Given the description of an element on the screen output the (x, y) to click on. 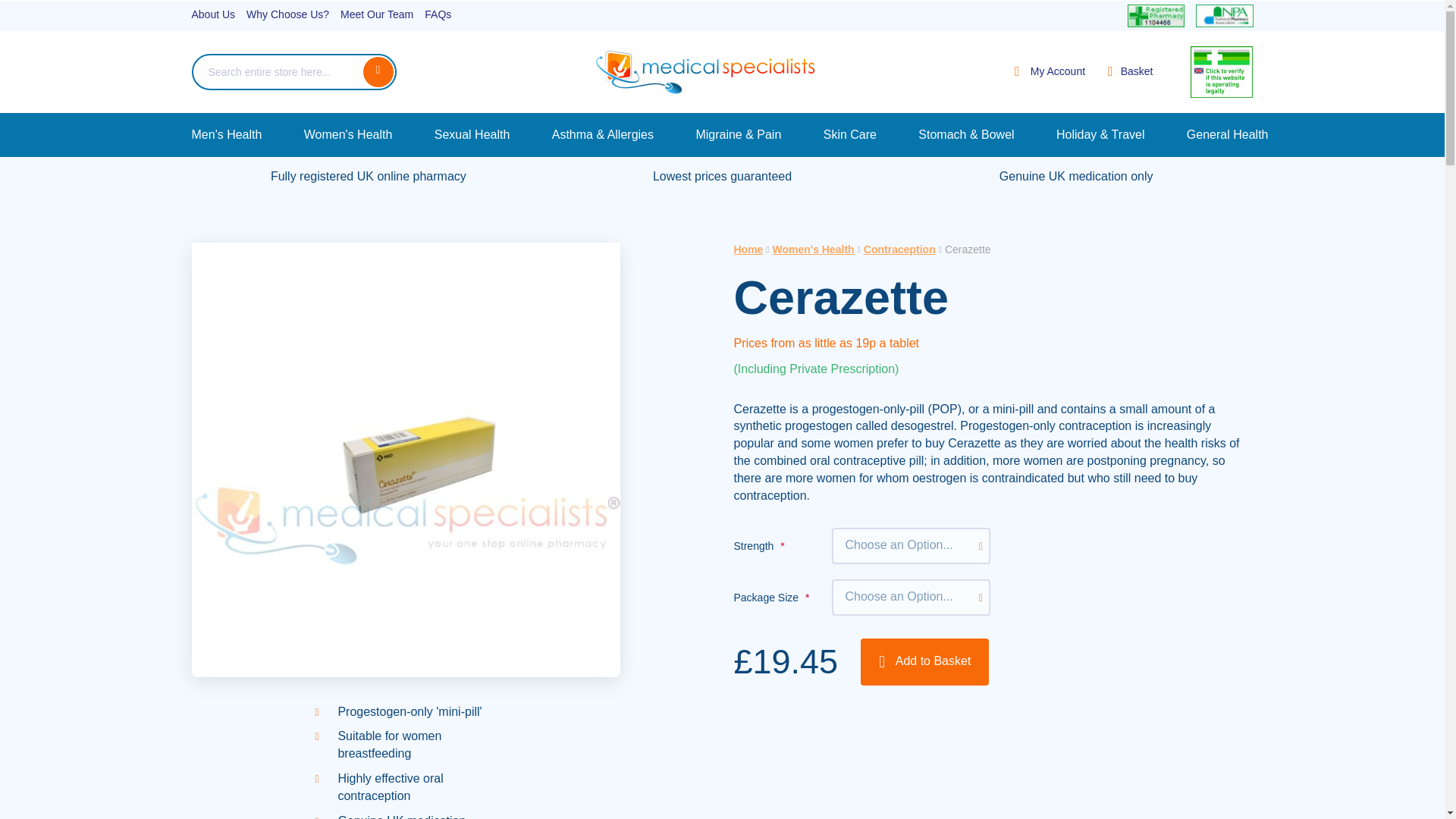
Search (377, 71)
Women's Health (348, 134)
FAQs (438, 14)
Go to Home Page (747, 249)
Basket (1130, 70)
Sexual Health (472, 134)
My Account (1049, 71)
Meet Our Team (376, 14)
About Us (212, 14)
Men's Health (226, 134)
